Given the description of an element on the screen output the (x, y) to click on. 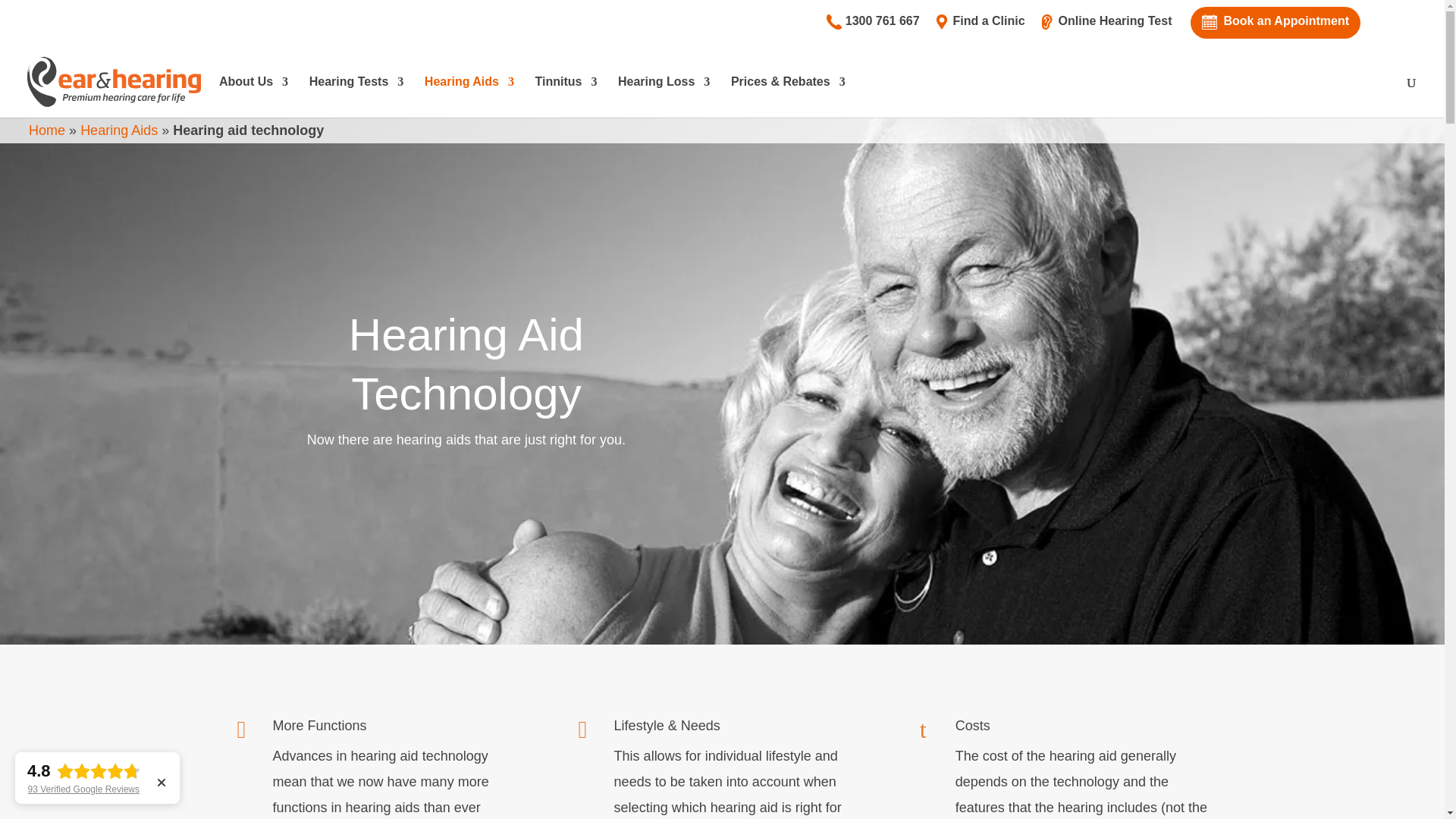
1300 761 667 Element type: text (872, 26)
Tinnitus Element type: text (566, 96)
Prices & Rebates Element type: text (788, 96)
Find a Clinic Element type: text (979, 26)
Book an Appointment Element type: text (1275, 22)
Online Hearing Test Element type: text (1105, 26)
Hearing Loss Element type: text (663, 96)
About Us Element type: text (253, 96)
Hearing Aids Element type: text (469, 96)
Home Element type: text (46, 130)
Hearing Tests Element type: text (356, 96)
Hearing Aids Element type: text (118, 130)
